Given the description of an element on the screen output the (x, y) to click on. 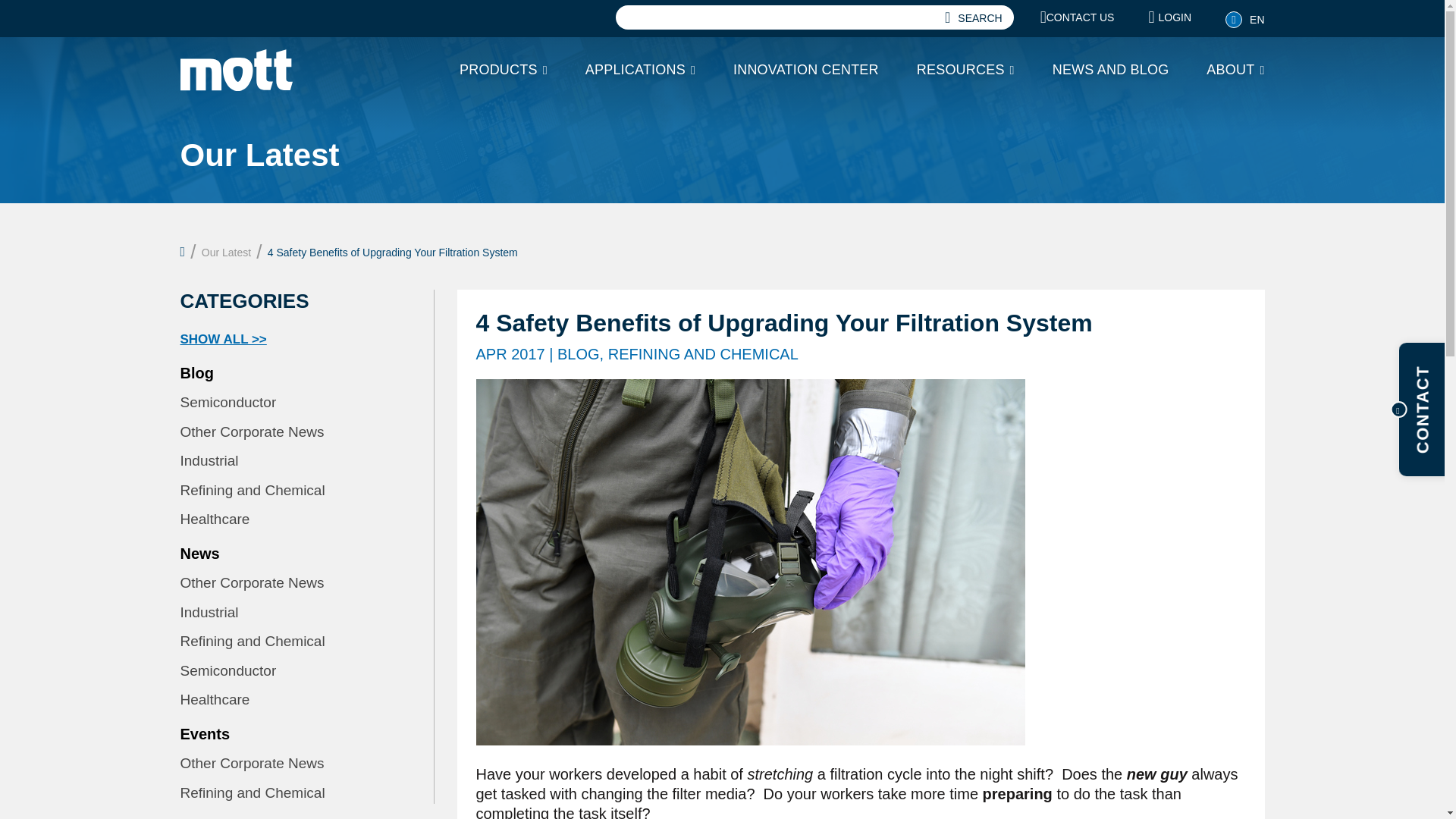
LOGIN (1169, 16)
CONTACT US (1078, 16)
SEARCH (973, 16)
PRODUCTS (503, 69)
